Given the description of an element on the screen output the (x, y) to click on. 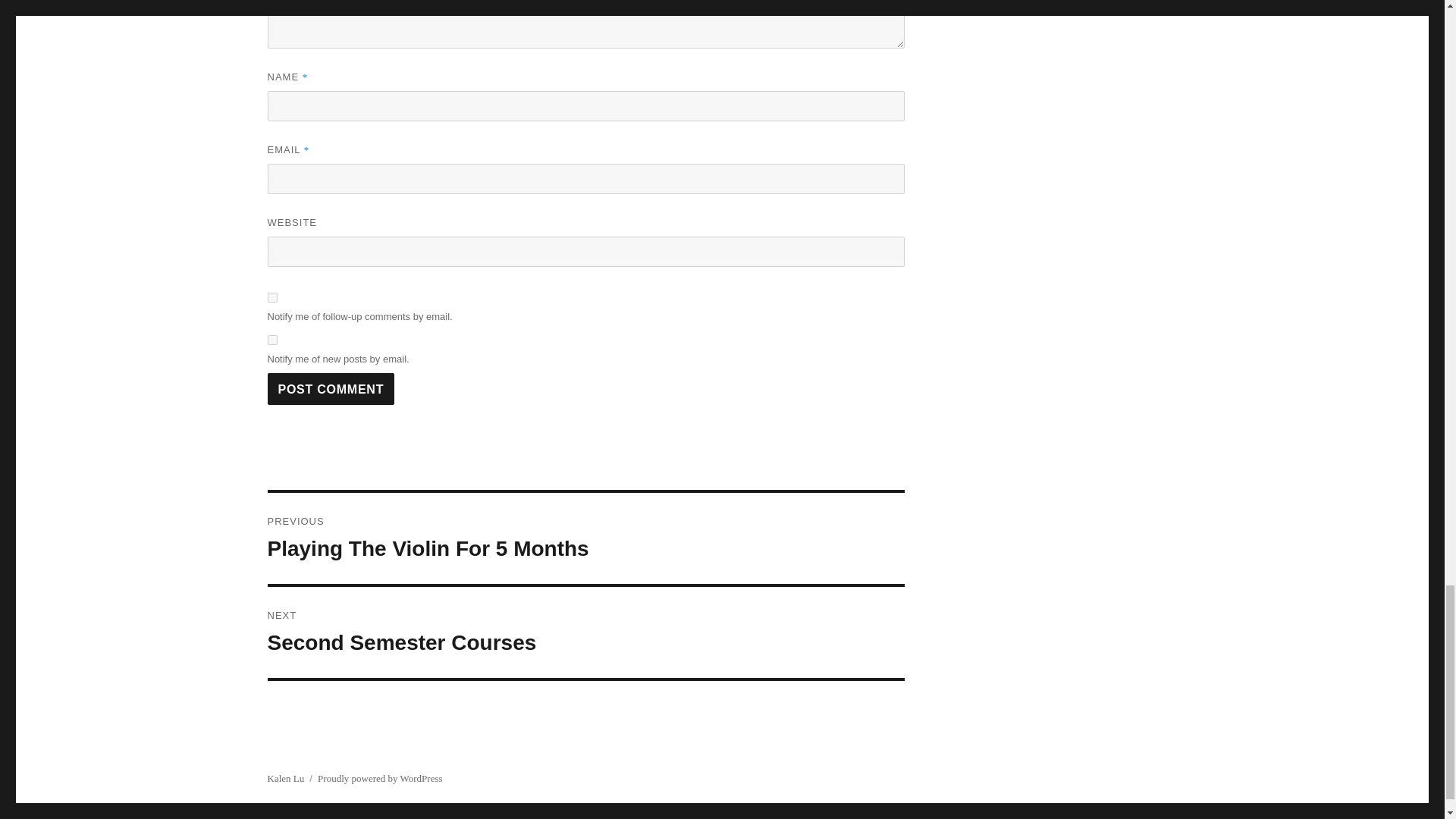
Post Comment (330, 388)
subscribe (271, 339)
subscribe (271, 297)
Post Comment (585, 538)
